Given the description of an element on the screen output the (x, y) to click on. 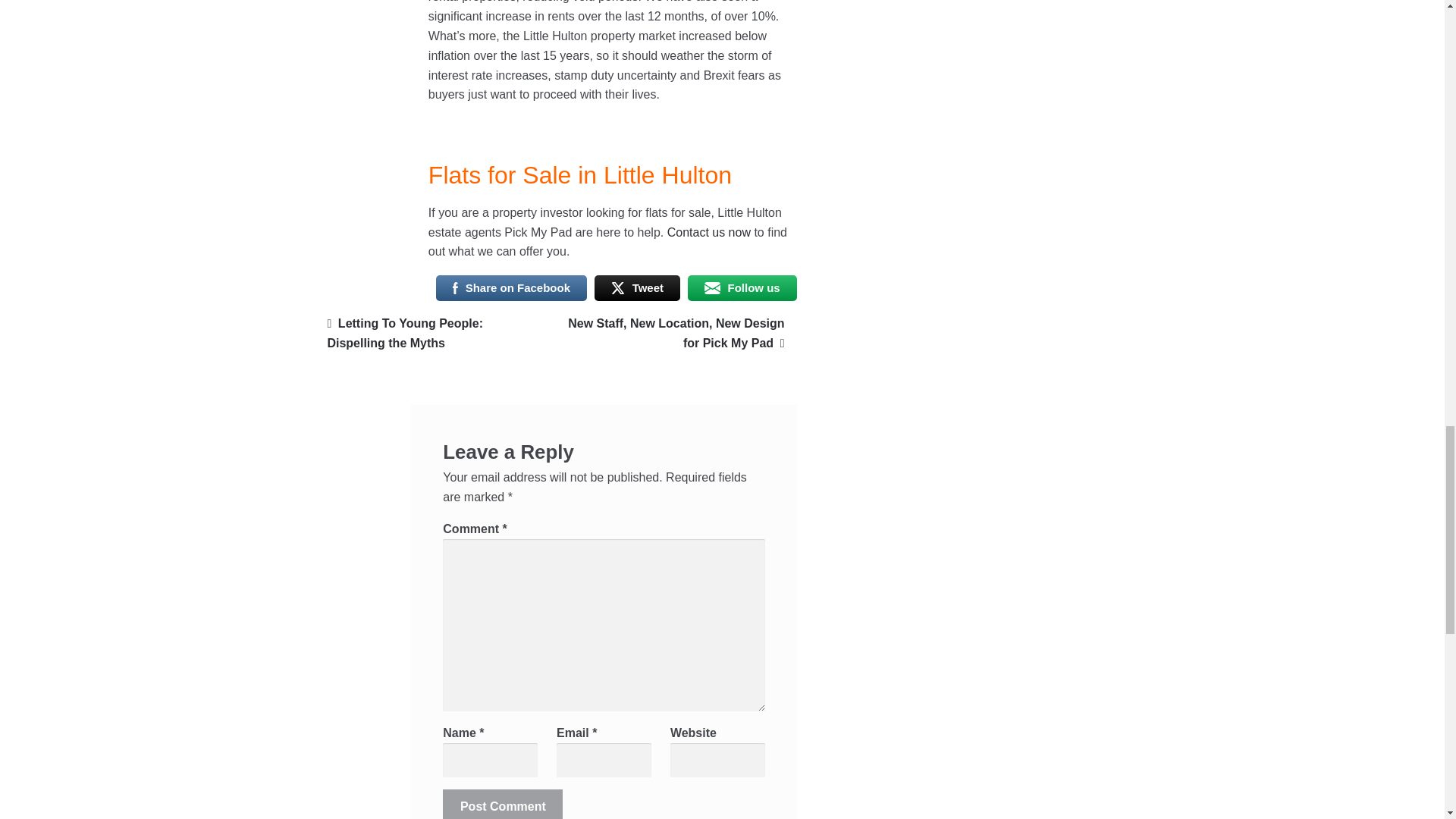
Post Comment (502, 804)
